Given the description of an element on the screen output the (x, y) to click on. 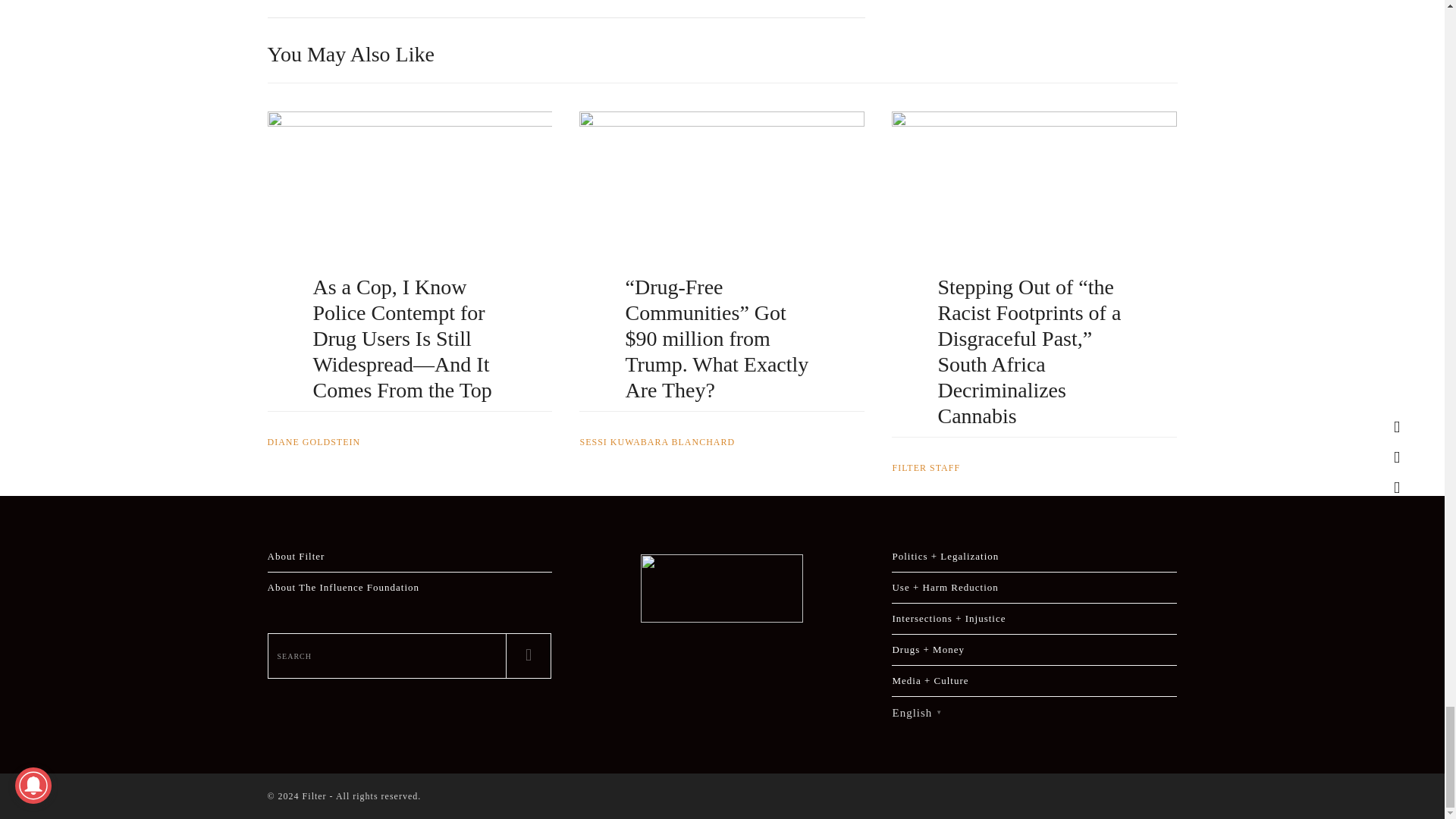
search (386, 655)
